Given the description of an element on the screen output the (x, y) to click on. 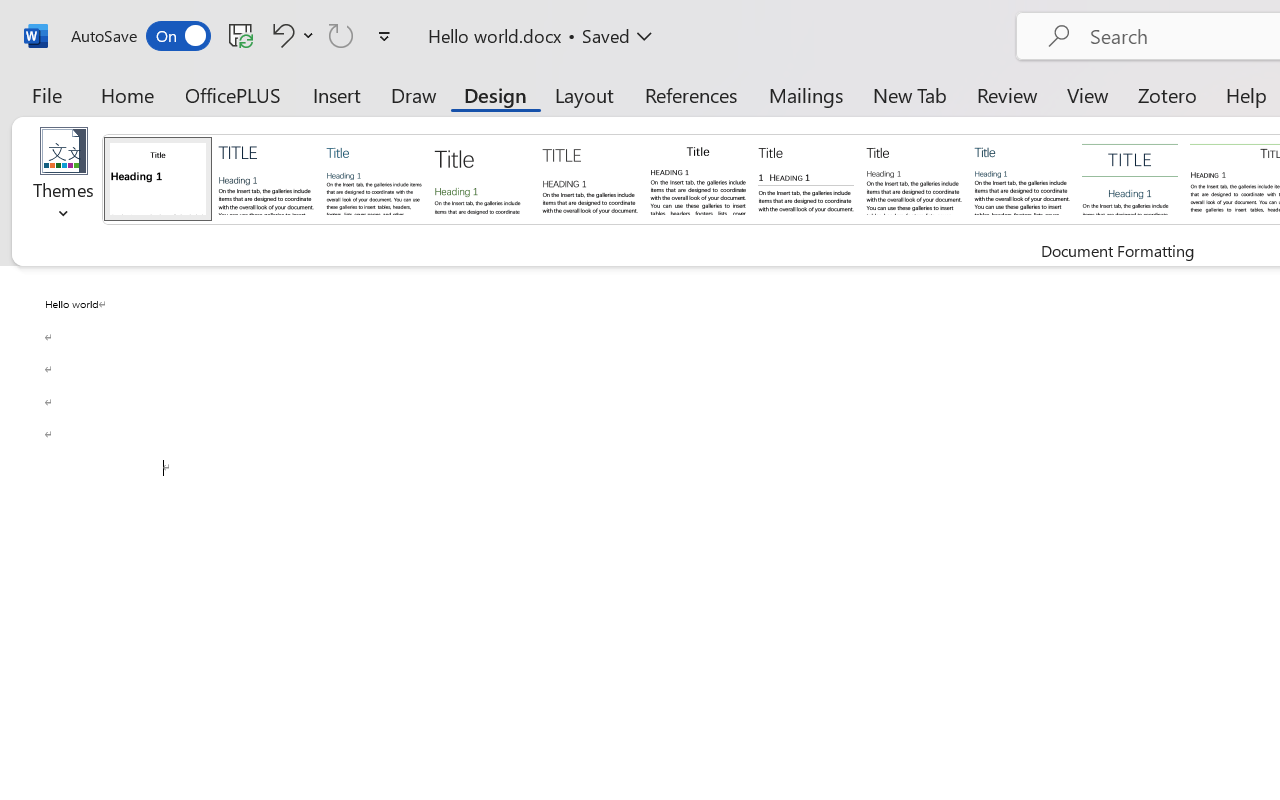
Layout (584, 94)
AutoSave (140, 35)
Home (127, 94)
Undo Click and Type Formatting (280, 35)
